Given the description of an element on the screen output the (x, y) to click on. 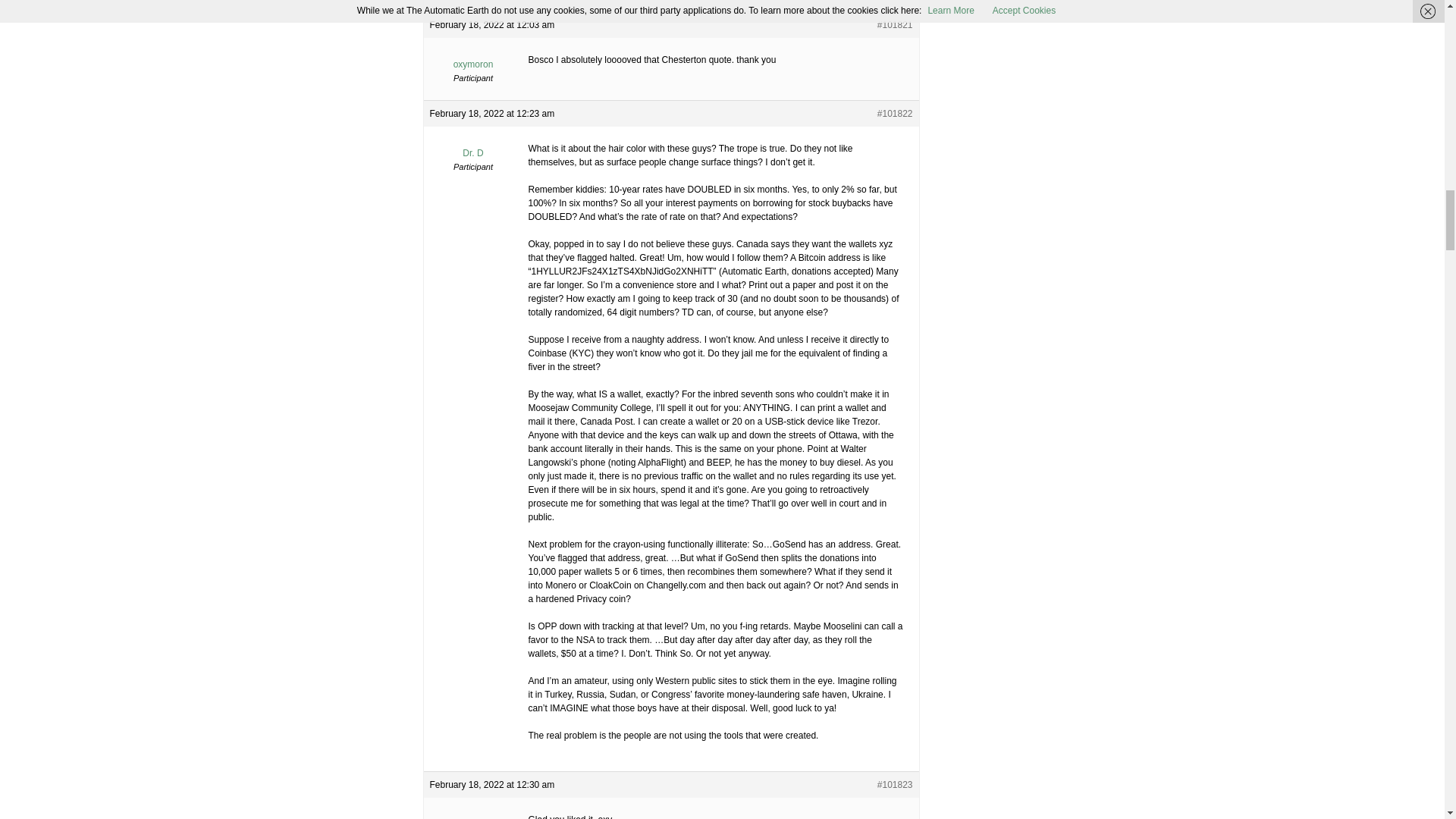
View boscohorowitz's profile (472, 812)
View Dr. D's profile (472, 146)
View oxymoron's profile (472, 58)
